Given the description of an element on the screen output the (x, y) to click on. 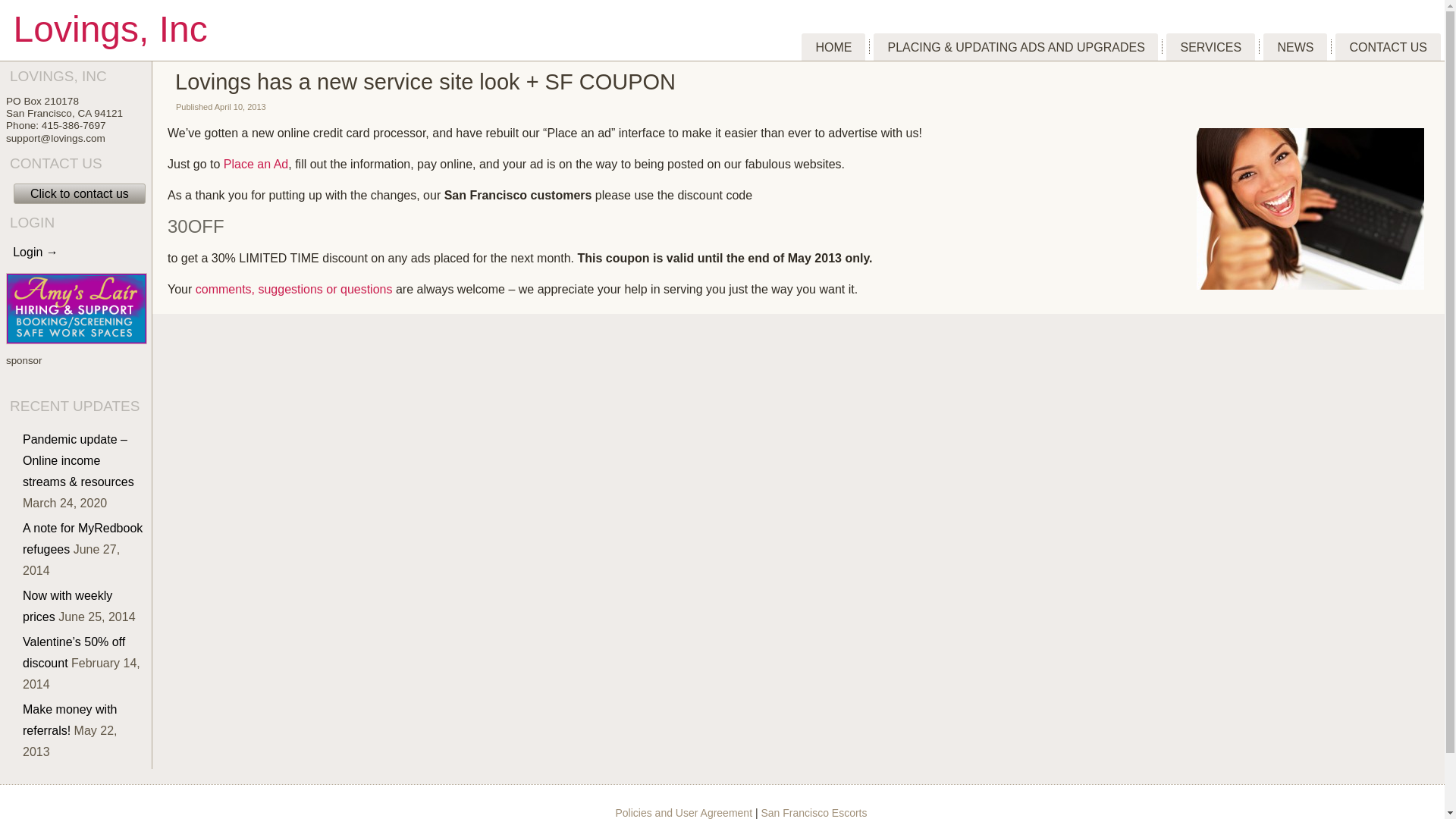
News (1294, 46)
Click to contact us (79, 193)
Make money with referrals! (70, 719)
comments, suggestions or questions (294, 288)
HOME (833, 46)
NEWS (1294, 46)
SERVICES (1210, 46)
Lovings, Inc (110, 29)
Services (1210, 46)
Now with weekly prices (67, 605)
